Given the description of an element on the screen output the (x, y) to click on. 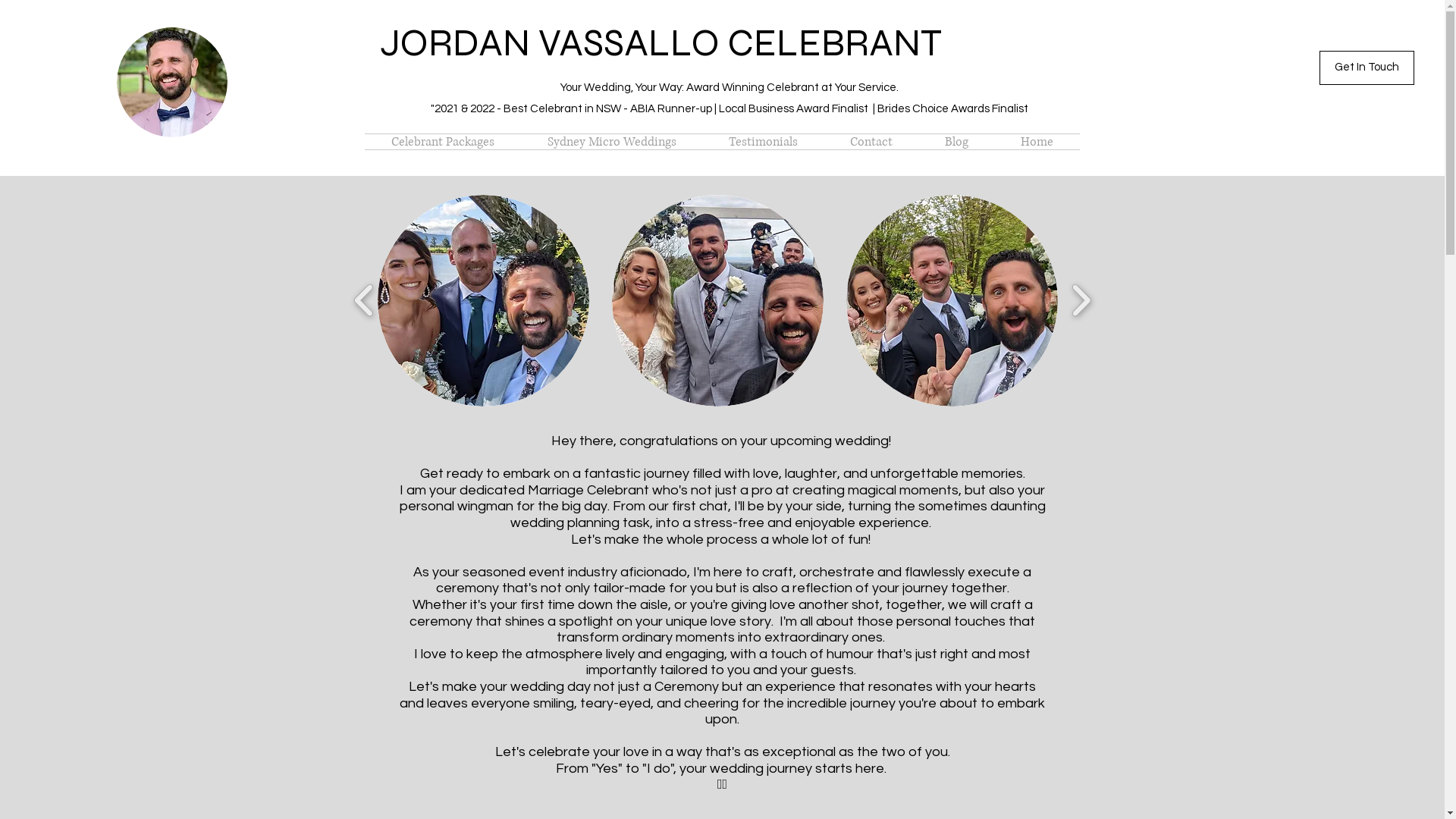
Jordan Vassallo Celebrant - ABIA  Element type: hover (1006, 147)
Contact Element type: text (870, 141)
JORDAN VASSALLO CELEBRANT Element type: text (660, 42)
Get In Touch Element type: text (1366, 67)
Blog Element type: text (956, 141)
Home Element type: text (1036, 141)
Celebrant Packages Element type: text (442, 141)
Sydney Micro Weddings Element type: text (611, 141)
Testimonials Element type: text (762, 141)
